Given the description of an element on the screen output the (x, y) to click on. 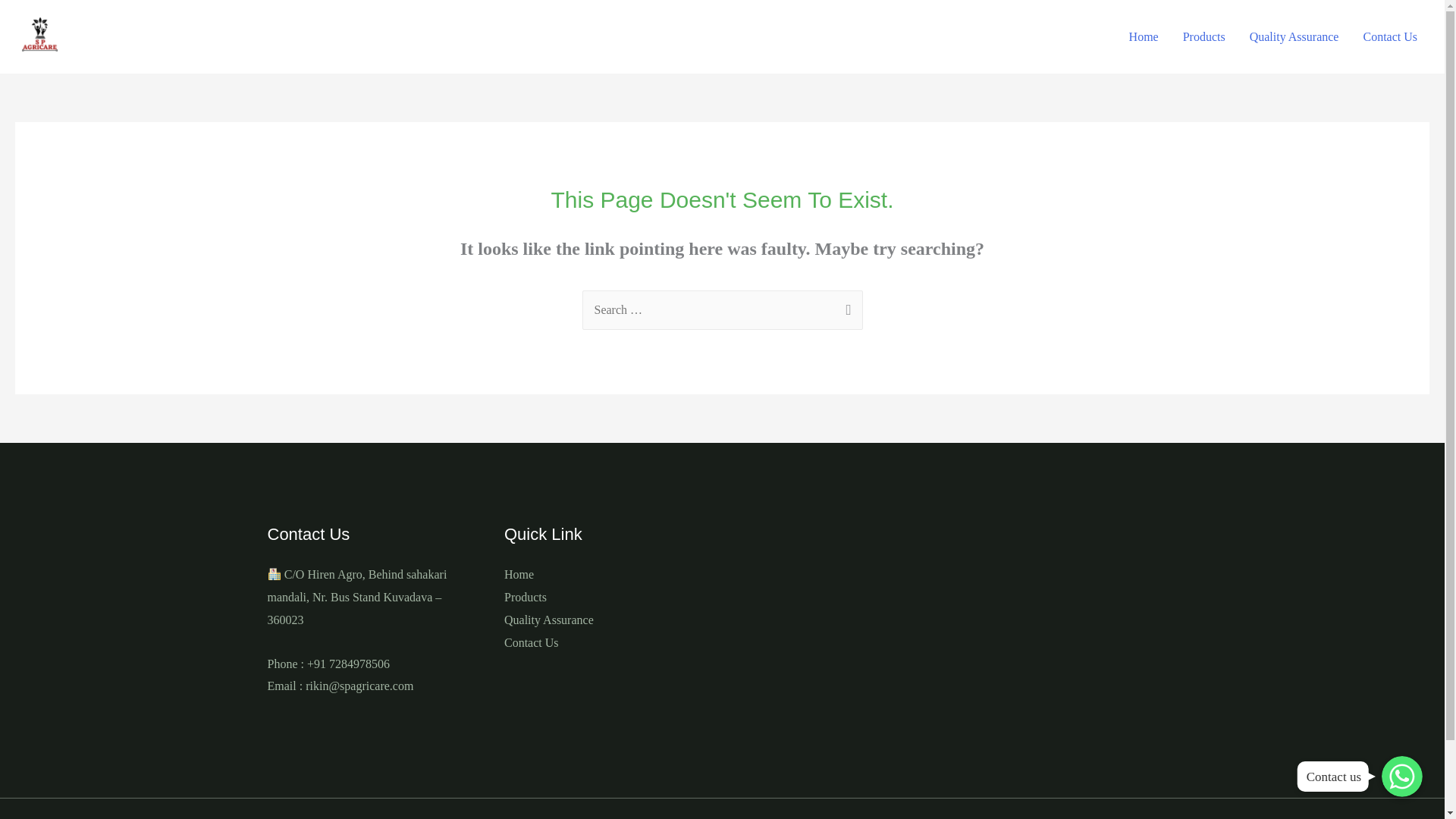
Products (1203, 36)
Contact Us (531, 642)
Quality Assurance (548, 619)
Home (518, 574)
Quality Assurance (1294, 36)
Products (525, 596)
Home (1143, 36)
Contact Us (1390, 36)
WhatsApp (1401, 775)
